Given the description of an element on the screen output the (x, y) to click on. 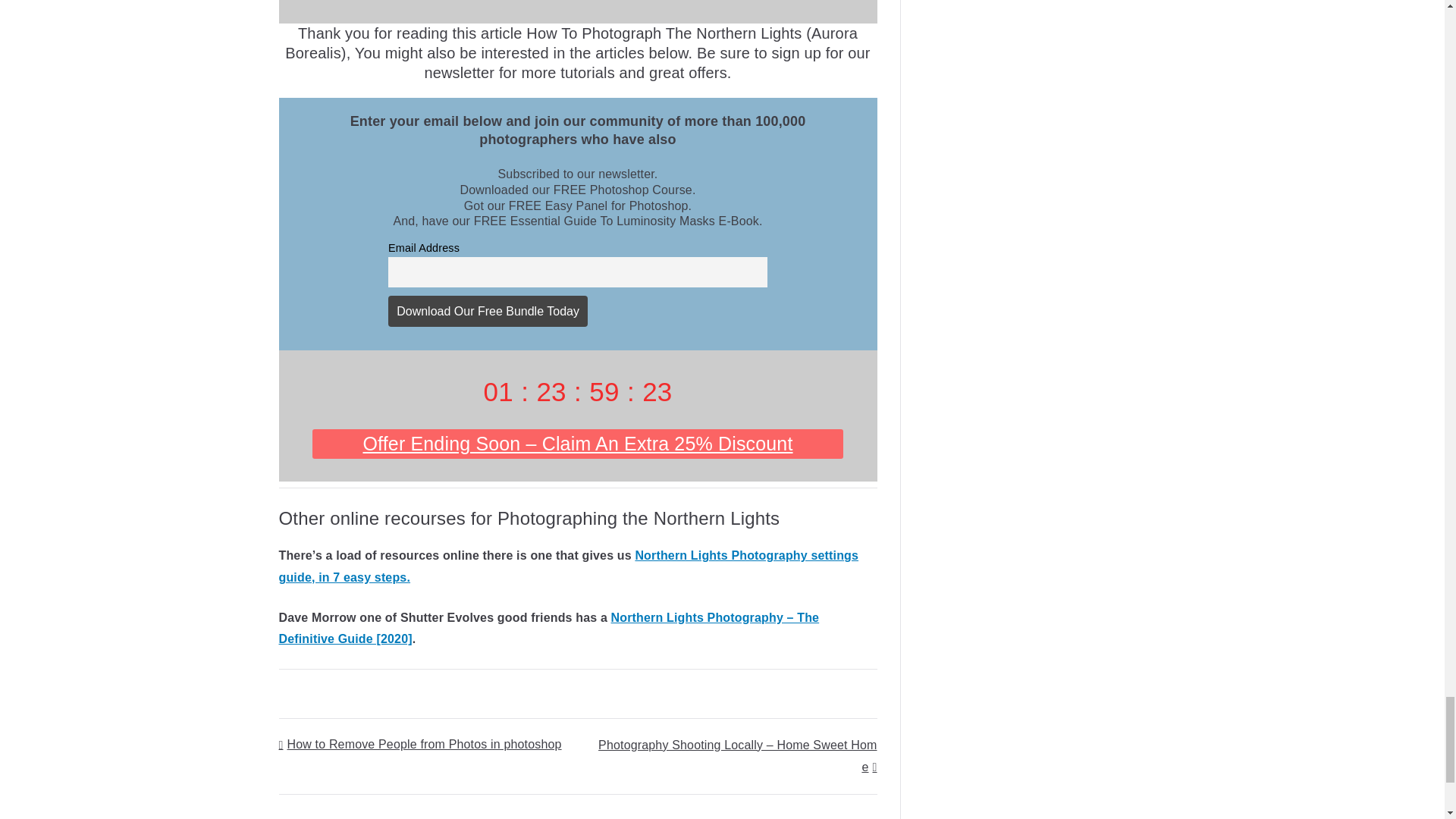
Download Our Free Bundle Today (488, 310)
